Given the description of an element on the screen output the (x, y) to click on. 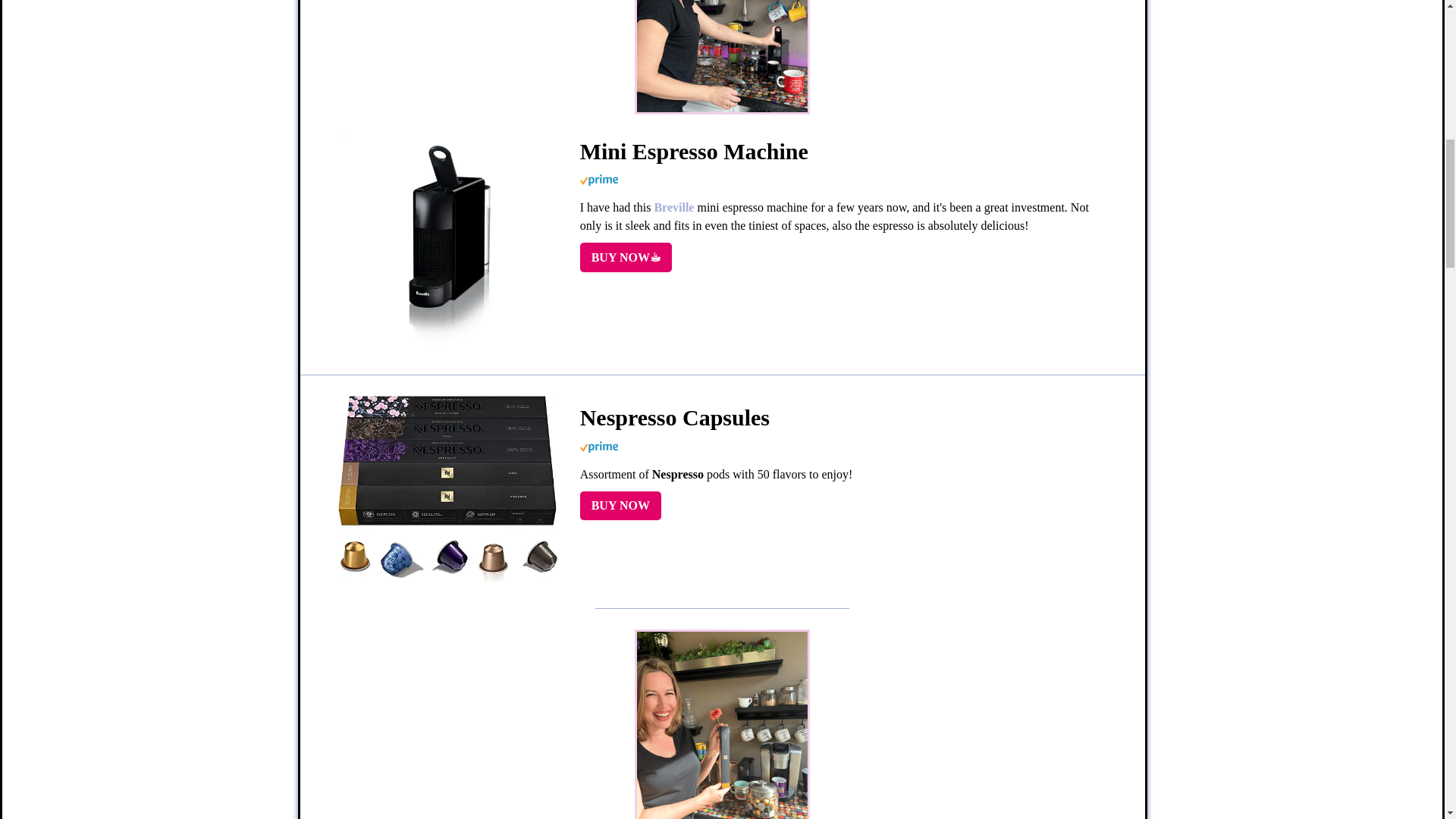
Nespresso Capsules (721, 724)
Nespresso Capsules (447, 581)
Nespresso Capsules (620, 505)
Mini Espresso Machine (837, 151)
Mini Espresso Machine (447, 348)
Mini Espresso Machine (625, 256)
Nespresso Capsules (837, 417)
